Given the description of an element on the screen output the (x, y) to click on. 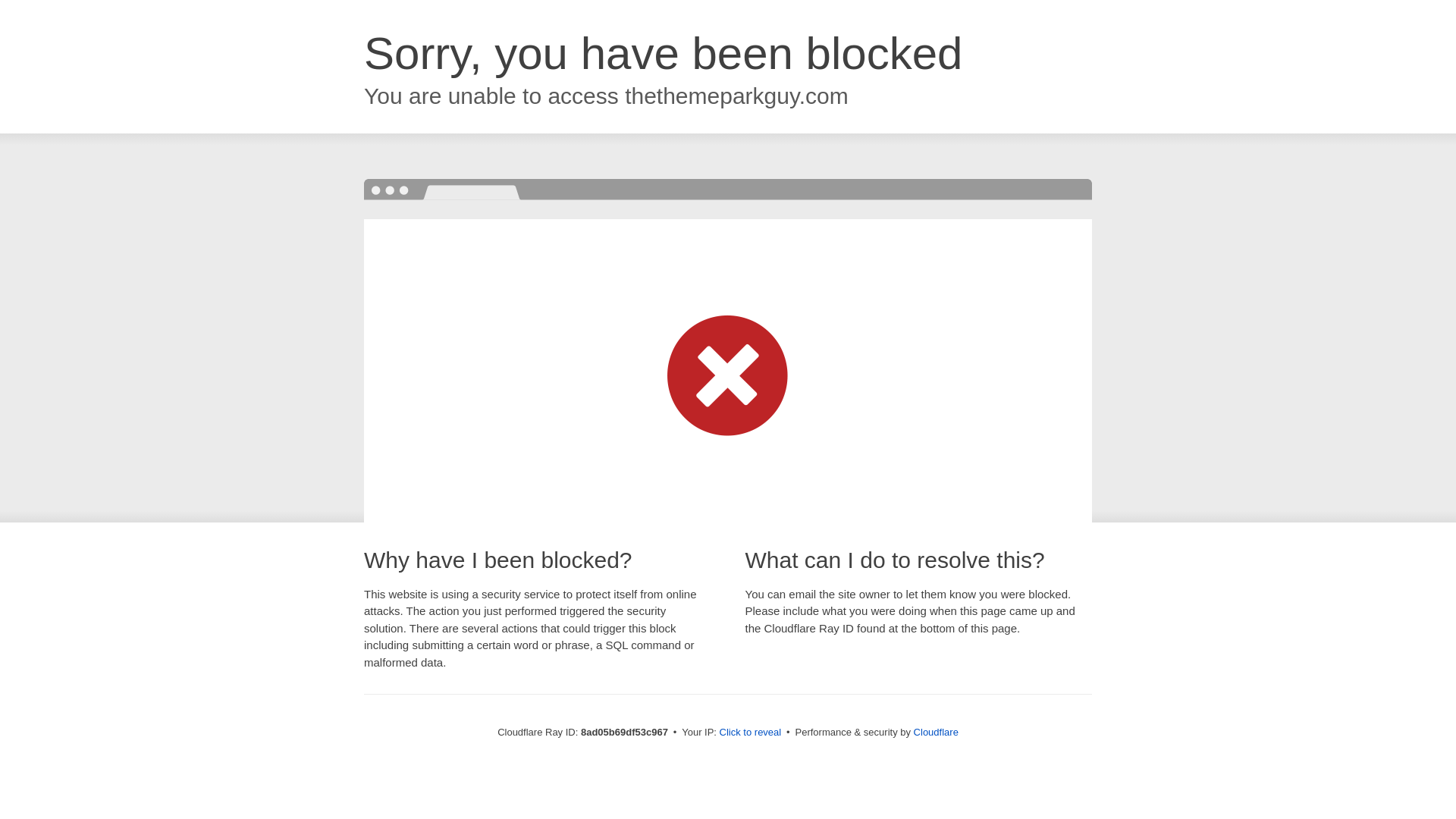
Click to reveal (750, 732)
Cloudflare (936, 731)
